Given the description of an element on the screen output the (x, y) to click on. 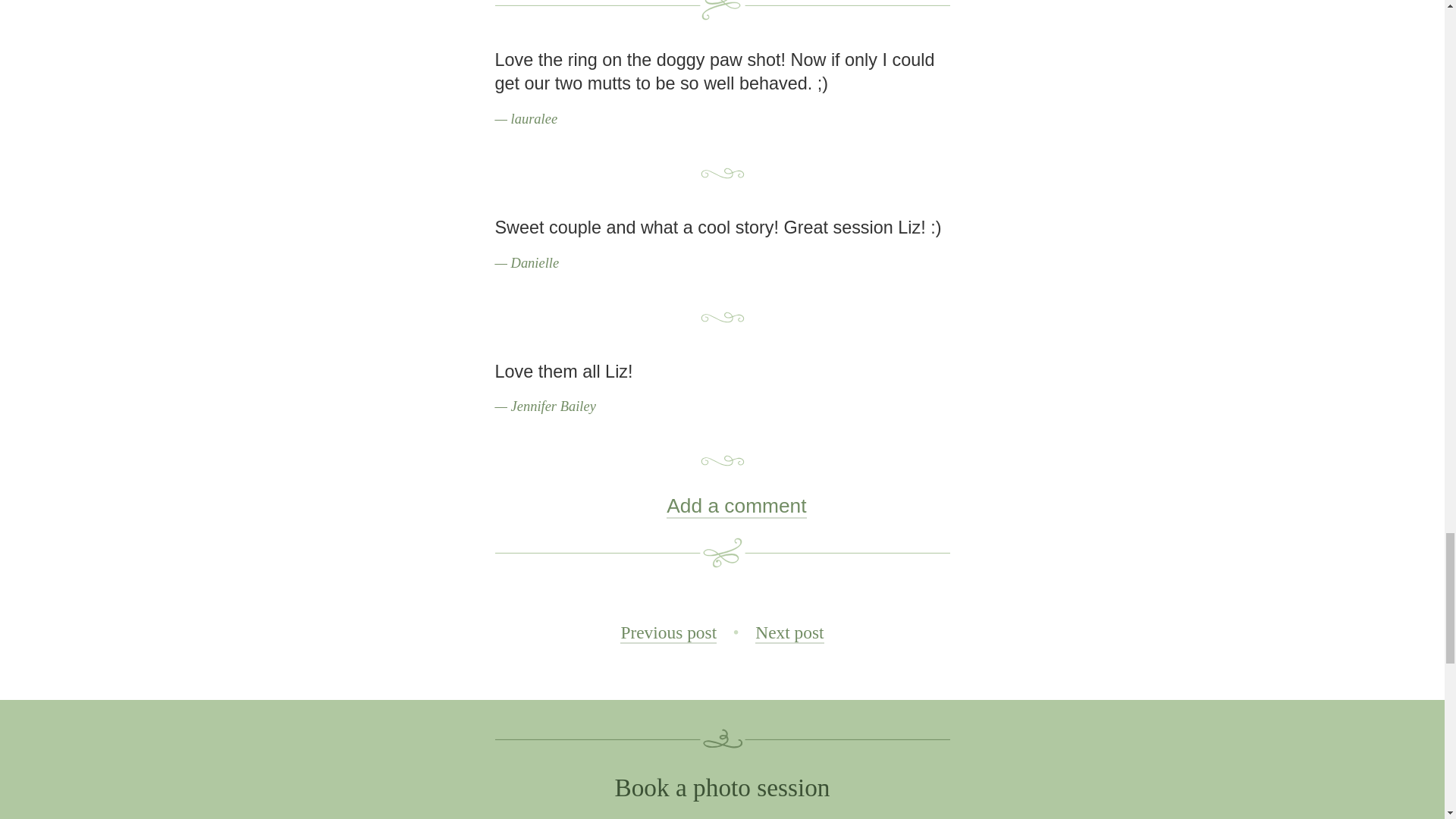
Add a comment (721, 505)
Next post (809, 632)
Previous post (649, 632)
